Given the description of an element on the screen output the (x, y) to click on. 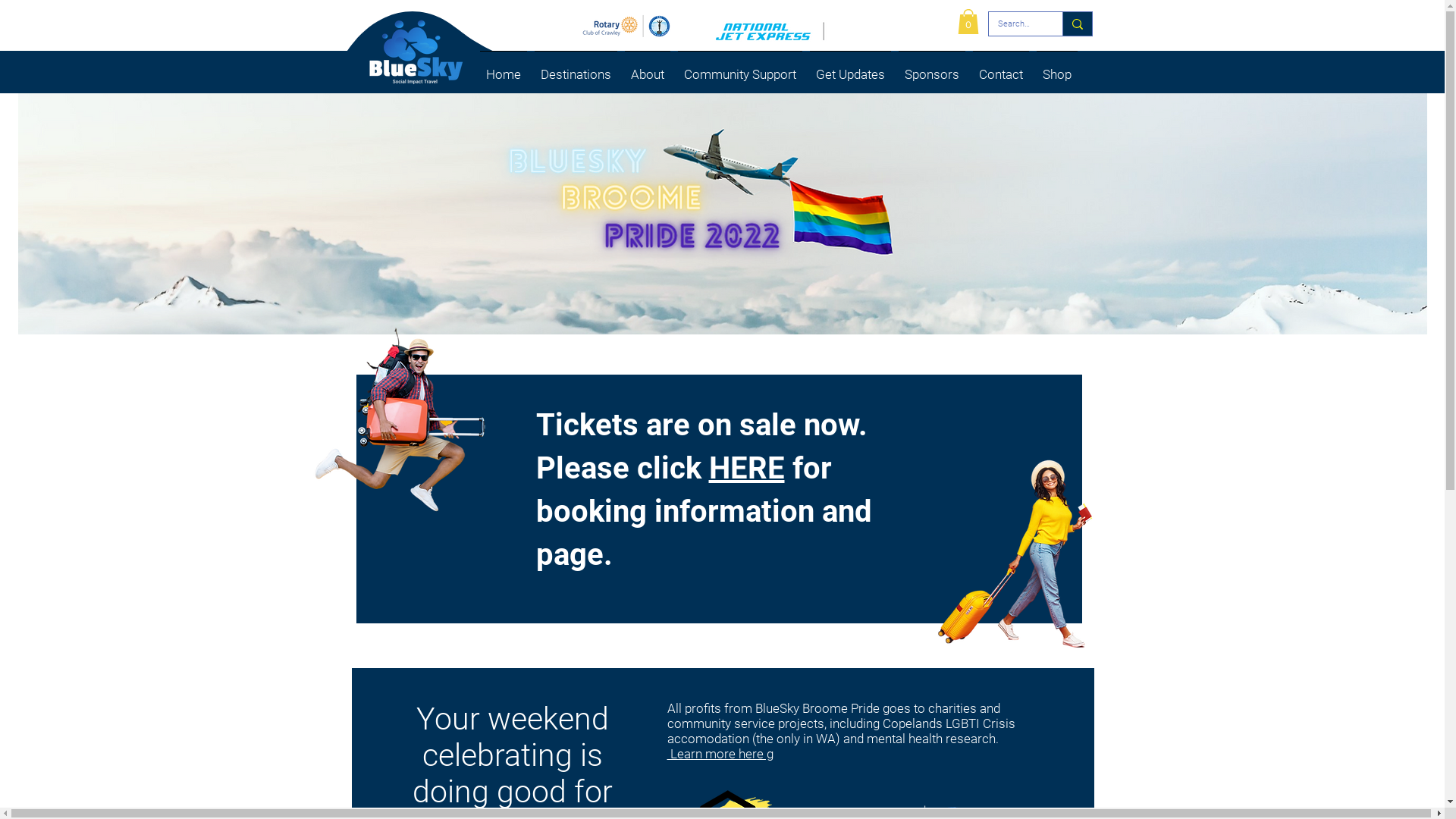
Contact Element type: text (1000, 67)
HERE Element type: text (746, 468)
Shop Element type: text (1056, 67)
About Element type: text (647, 67)
0 Element type: text (967, 21)
Home Element type: text (503, 67)
Get Updates Element type: text (850, 67)
 Learn more here g Element type: text (720, 753)
Community Support Element type: text (740, 67)
